Given the description of an element on the screen output the (x, y) to click on. 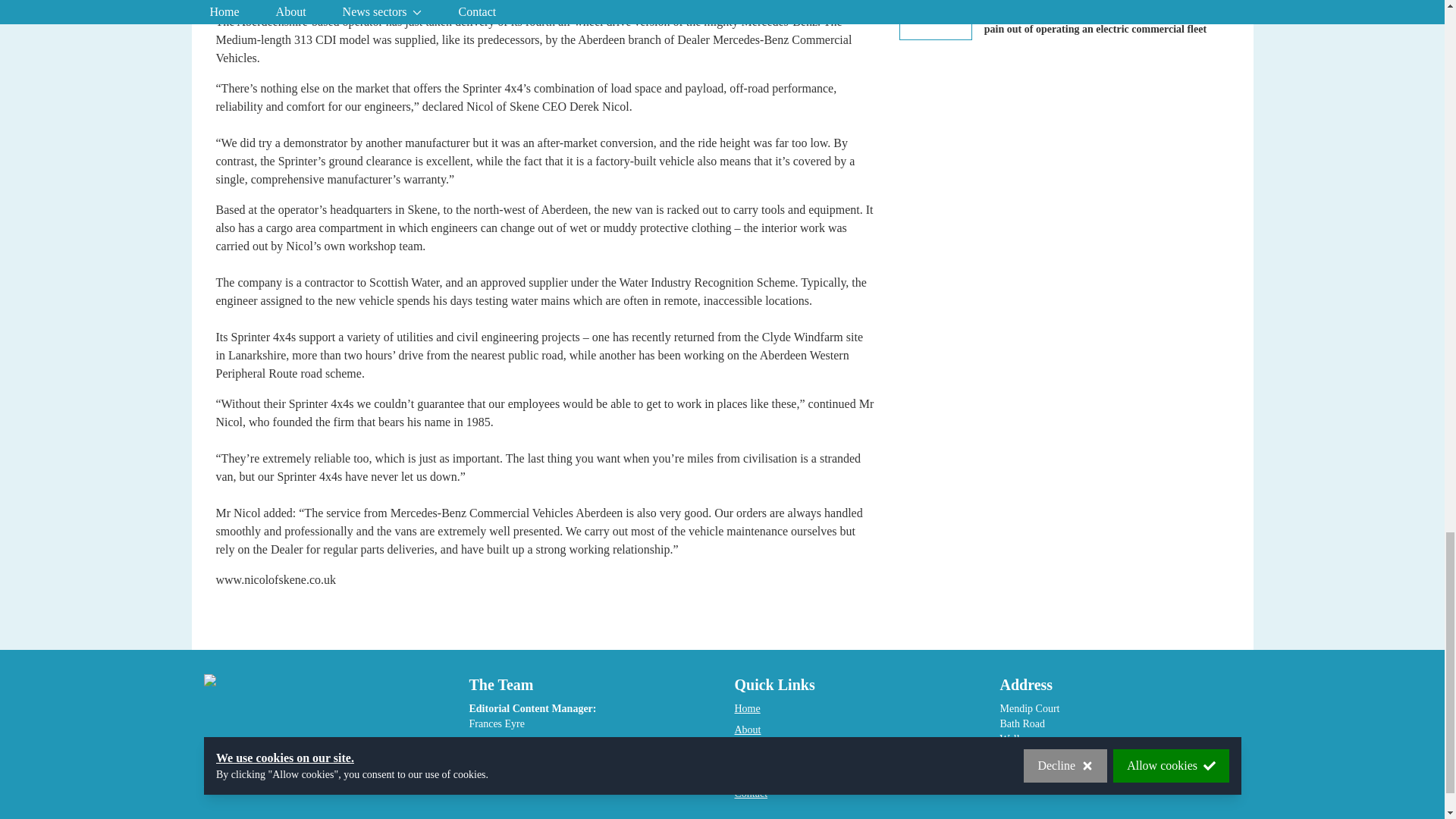
Privacy Policy (764, 750)
The Voices Network (777, 772)
About (746, 729)
Home (746, 708)
Contact (750, 793)
